Given the description of an element on the screen output the (x, y) to click on. 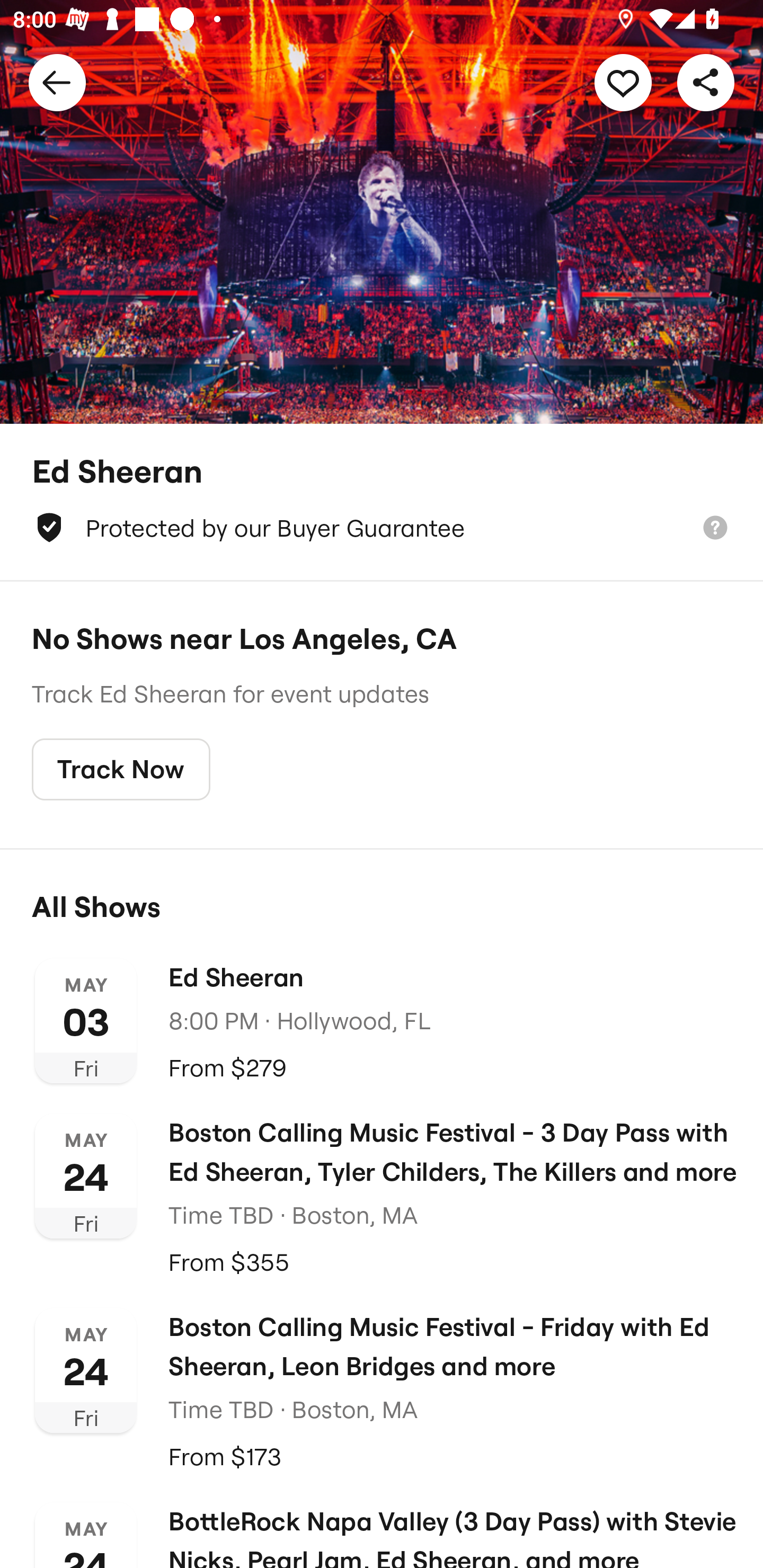
Back (57, 81)
Track this performer (623, 81)
Share this performer (705, 81)
Protected by our Buyer Guarantee Learn more (381, 527)
Track Now (121, 769)
